Given the description of an element on the screen output the (x, y) to click on. 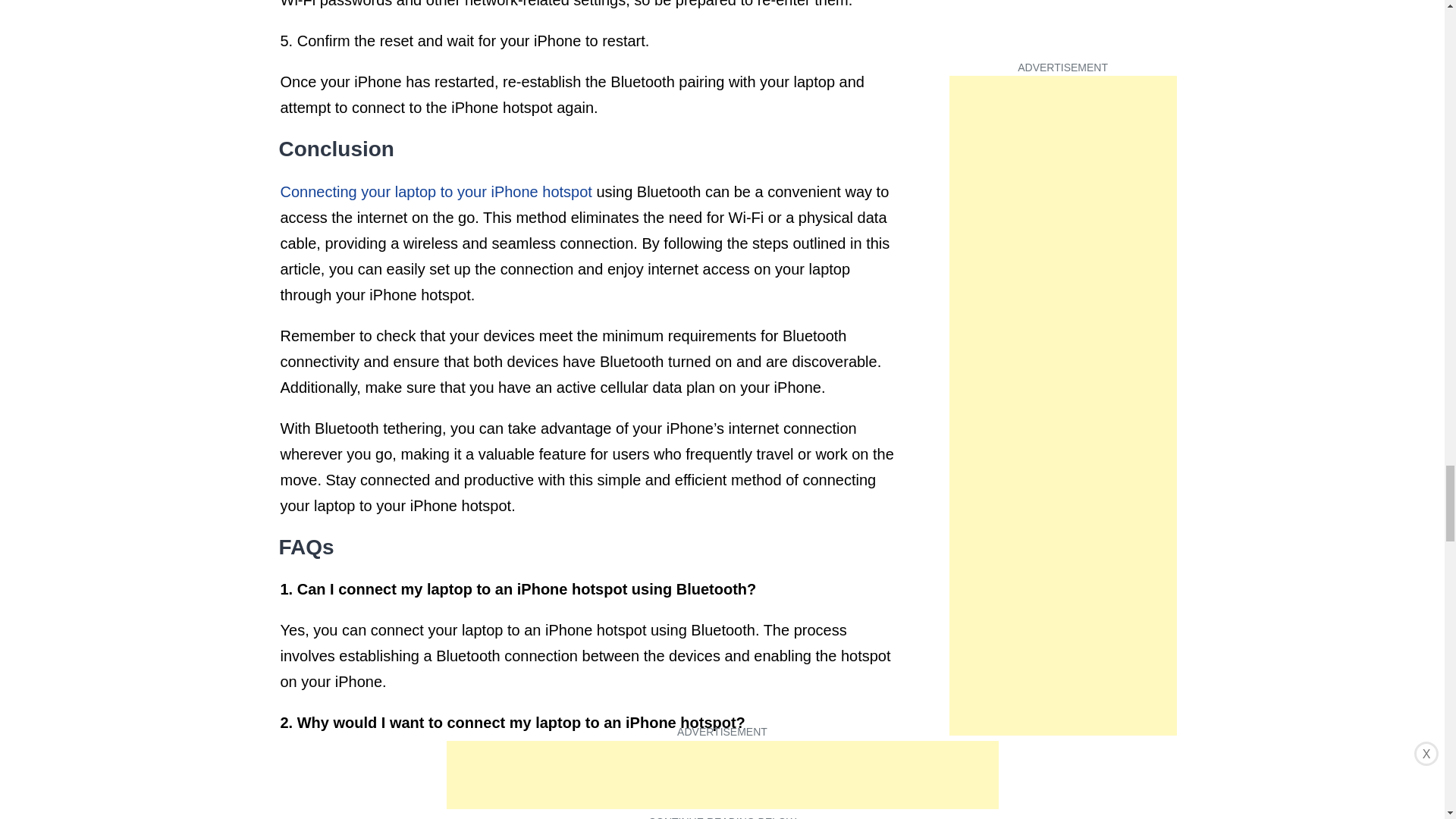
Connecting your laptop to your iPhone hotspot (436, 191)
